Given the description of an element on the screen output the (x, y) to click on. 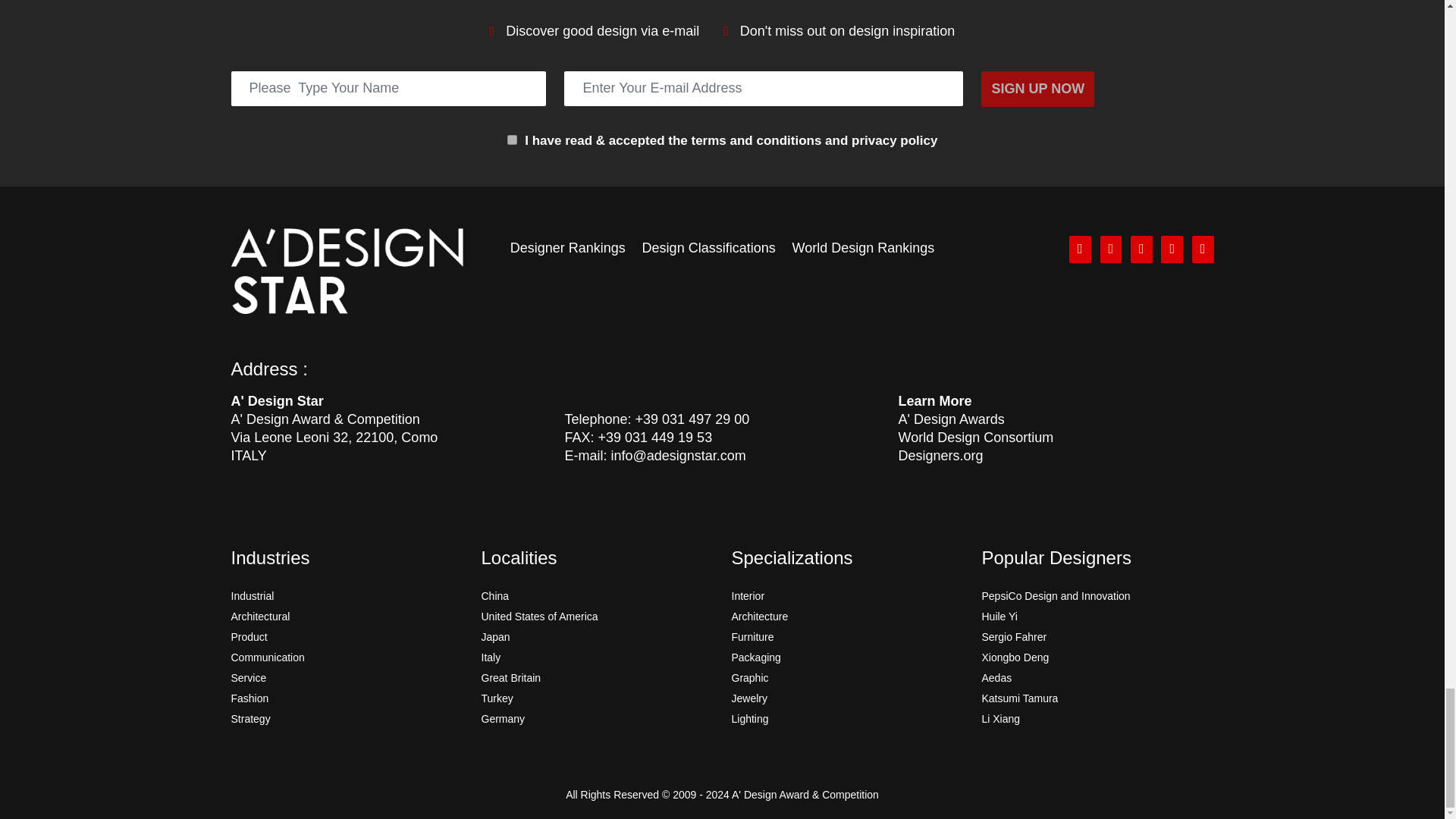
on (511, 139)
